Given the description of an element on the screen output the (x, y) to click on. 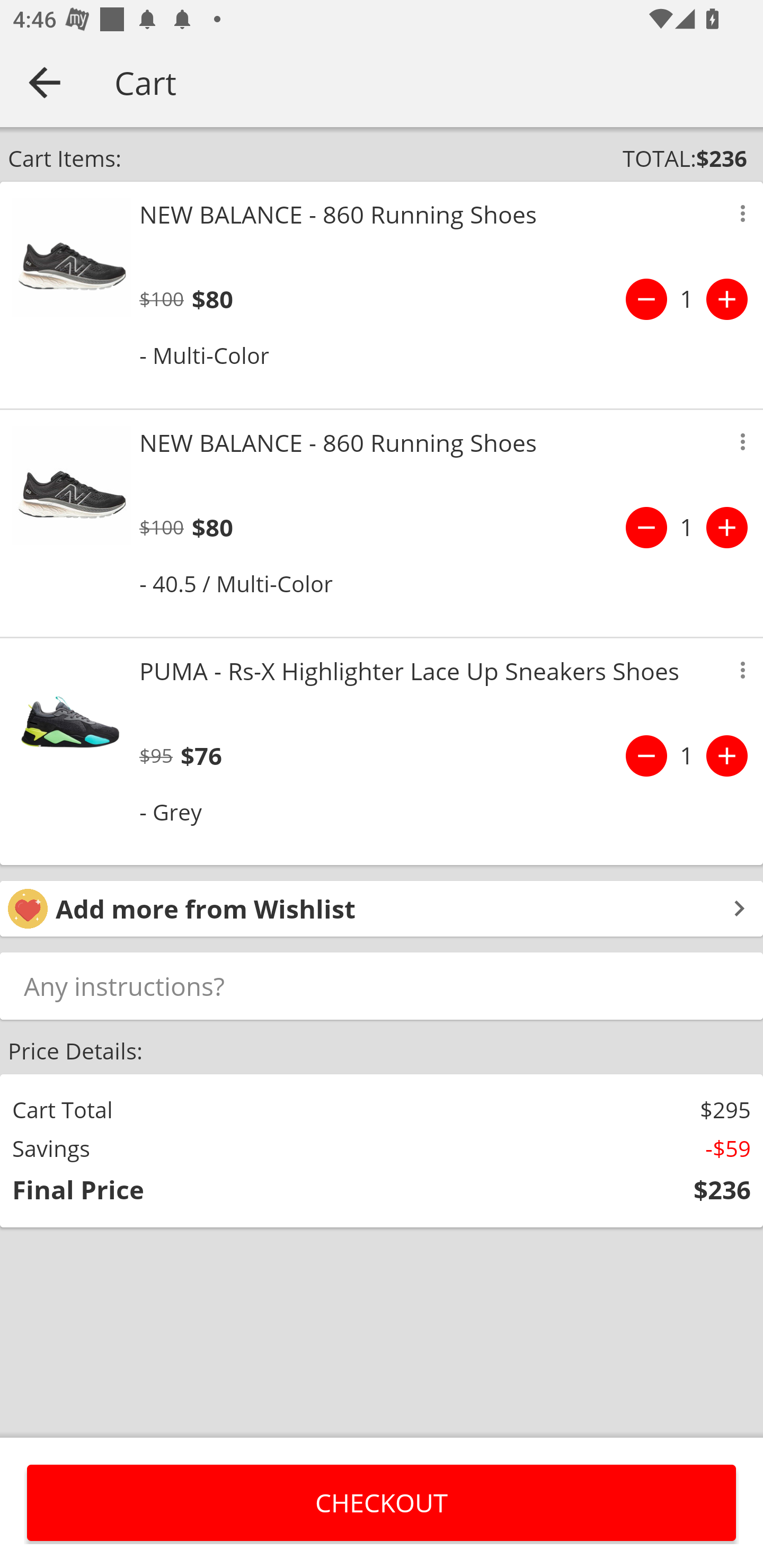
Navigate up (44, 82)
1 (686, 299)
1 (686, 527)
1 (686, 755)
Add more from Wishlist (381, 908)
Any instructions? (381, 985)
CHECKOUT (381, 1502)
